Given the description of an element on the screen output the (x, y) to click on. 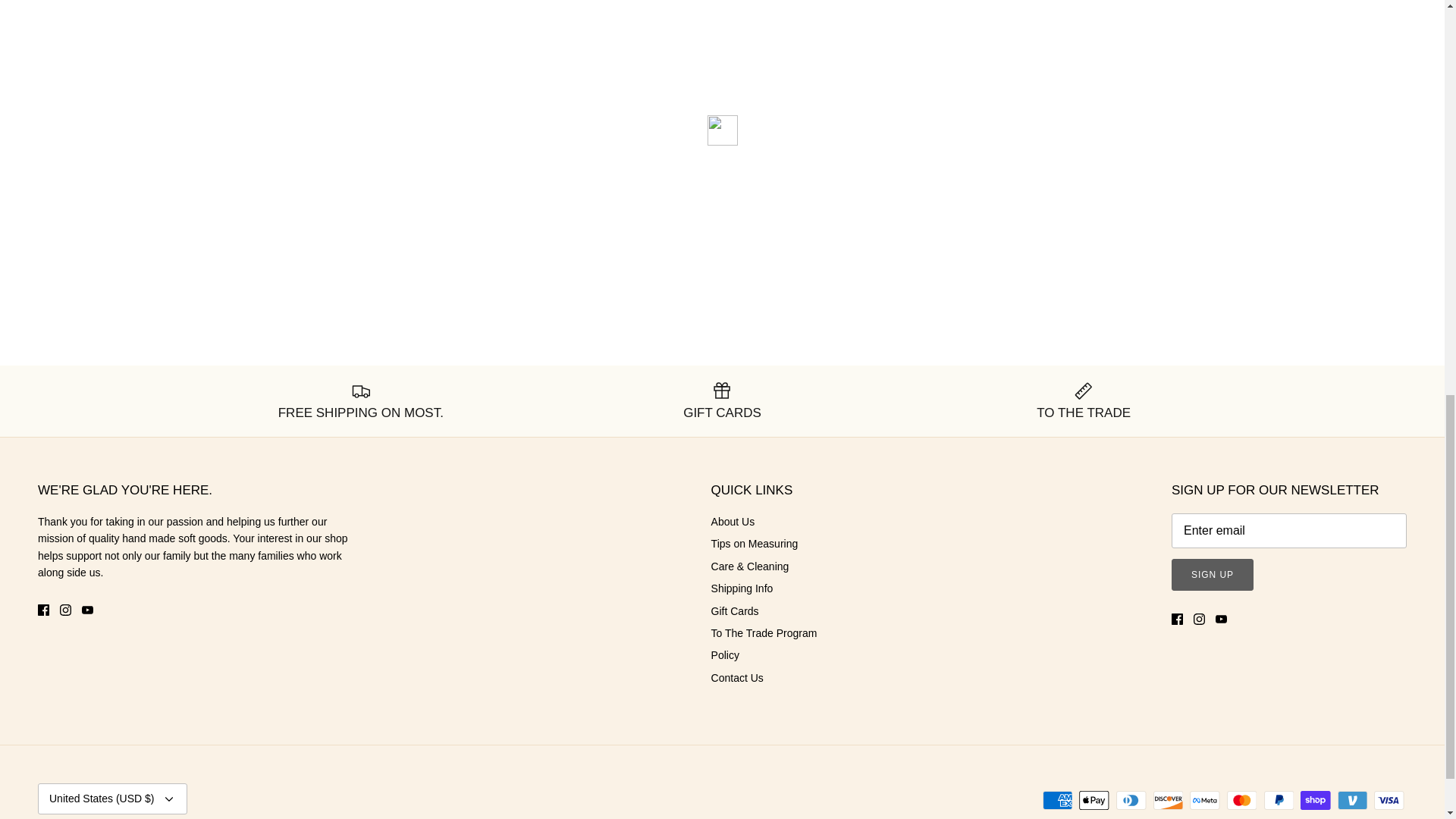
Apple Pay (1093, 800)
Instagram (65, 609)
Discover (1168, 800)
American Express (1057, 800)
Facebook (1177, 618)
Youtube (87, 609)
Diners Club (1130, 800)
Youtube (1221, 618)
Instagram (1199, 618)
Facebook (43, 609)
